Given the description of an element on the screen output the (x, y) to click on. 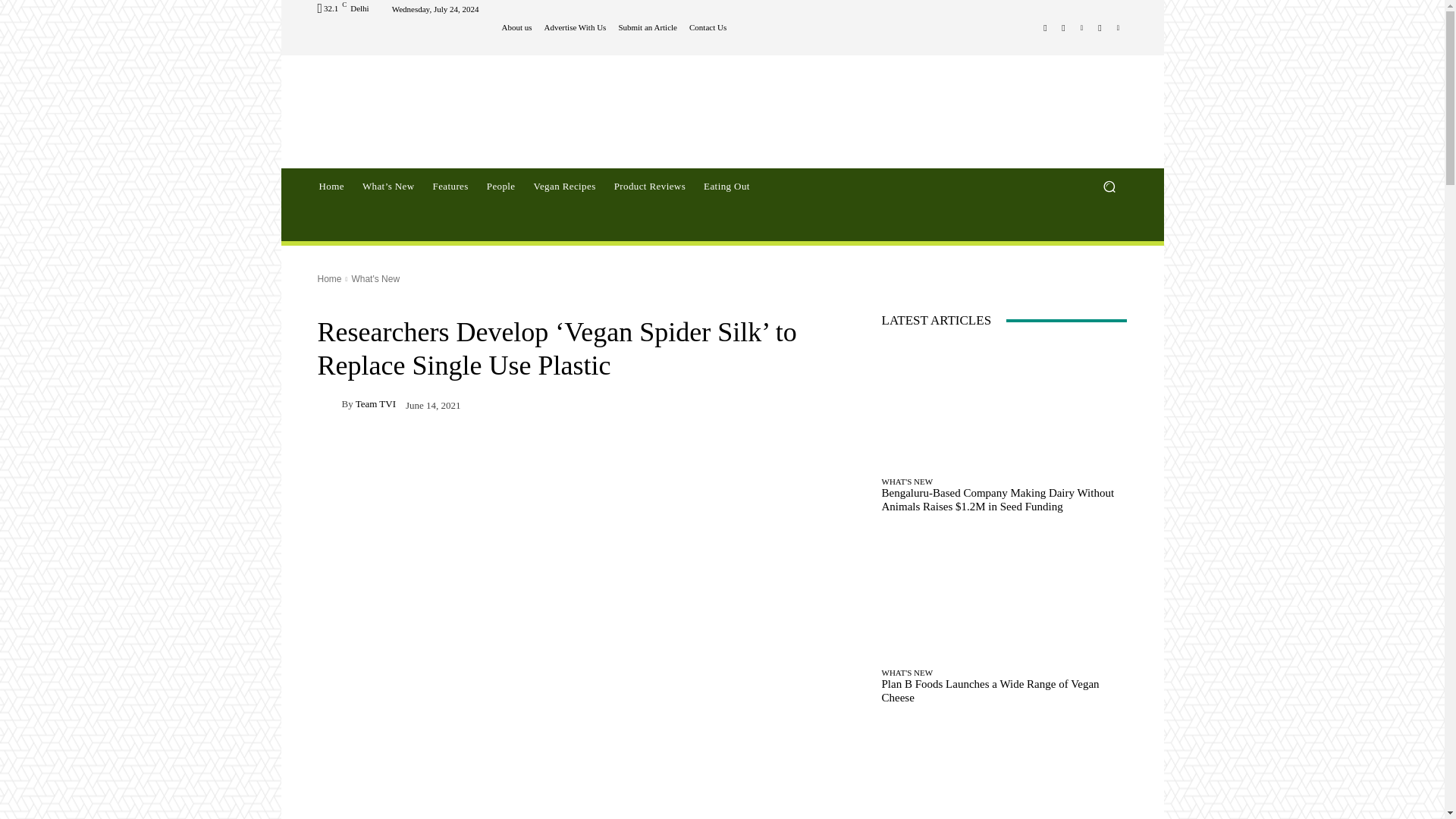
Features (450, 186)
Vegan Recipes (564, 186)
Eating Out (726, 186)
Team TVI (328, 403)
Linkedin (1080, 27)
Contact Us (707, 27)
Product Reviews (649, 186)
Submit an Article (647, 27)
Facebook (1044, 27)
RSS (1099, 27)
About us (517, 27)
Advertise With Us (575, 27)
Twitter (1117, 27)
Home (330, 186)
Instagram (1062, 27)
